Given the description of an element on the screen output the (x, y) to click on. 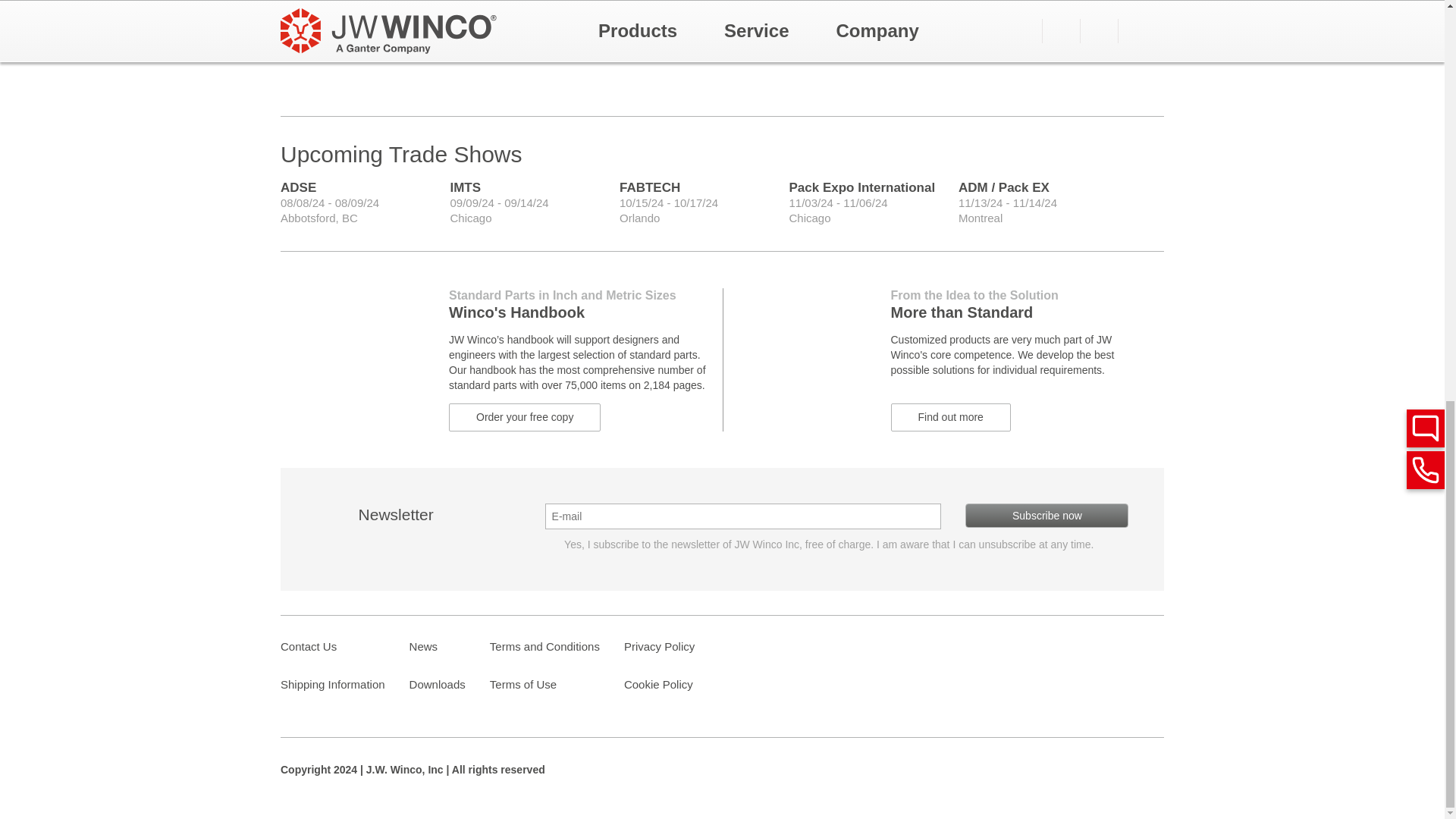
Terms of Use (522, 684)
Cookie Policy (658, 684)
Downloads (437, 684)
Terms and Conditions (544, 646)
Opens internal link in current window (523, 417)
Privacy Policy (659, 646)
Opens internal link in current window (949, 417)
Contact Us (308, 646)
Shipping Information (333, 684)
